Given the description of an element on the screen output the (x, y) to click on. 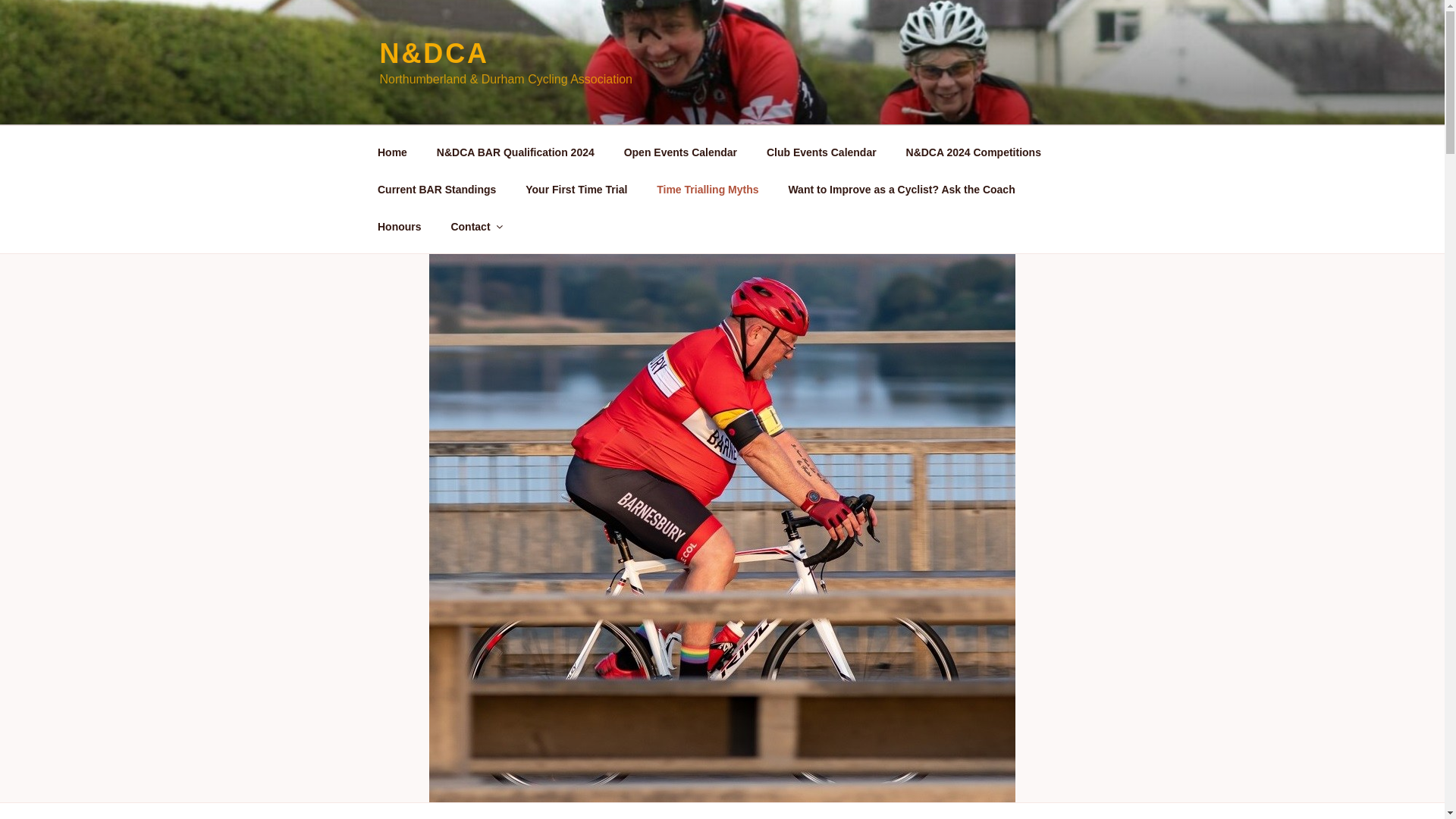
Open Events Calendar (679, 151)
Current BAR Standings (436, 189)
Time Trialling Myths (707, 189)
Home (392, 151)
Want to Improve as a Cyclist? Ask the Coach (900, 189)
Contact (475, 226)
Honours (398, 226)
Club Events Calendar (820, 151)
Your First Time Trial (576, 189)
